Given the description of an element on the screen output the (x, y) to click on. 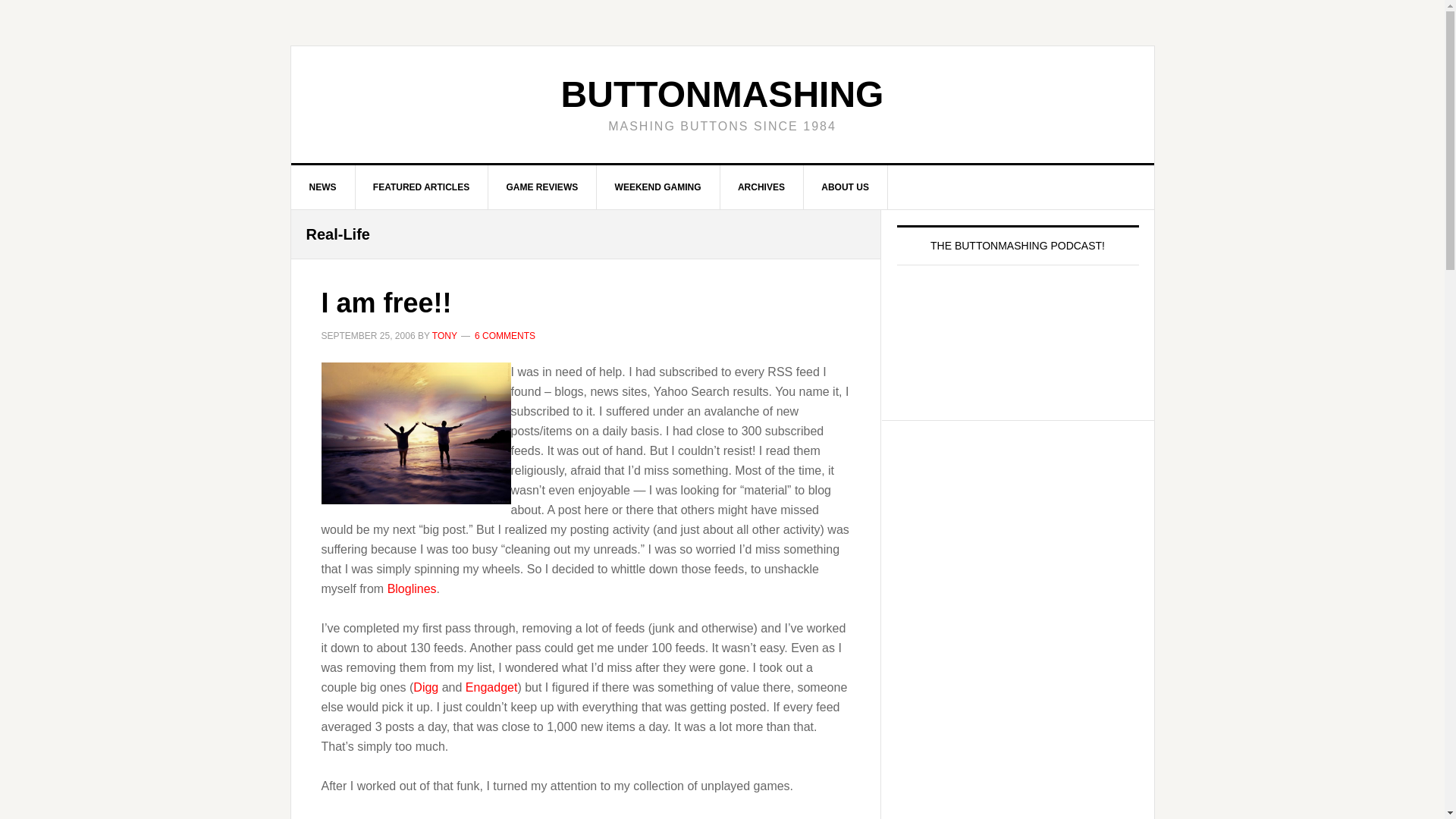
Digg (425, 686)
NEWS (323, 187)
BUTTONMASHING (721, 94)
Bloglines (411, 588)
TONY (444, 335)
ABOUT US (845, 187)
6 COMMENTS (504, 335)
I am free!! (386, 302)
WEEKEND GAMING (658, 187)
Engadget (491, 686)
ARCHIVES (761, 187)
FEATURED ARTICLES (421, 187)
GAME REVIEWS (541, 187)
